Given the description of an element on the screen output the (x, y) to click on. 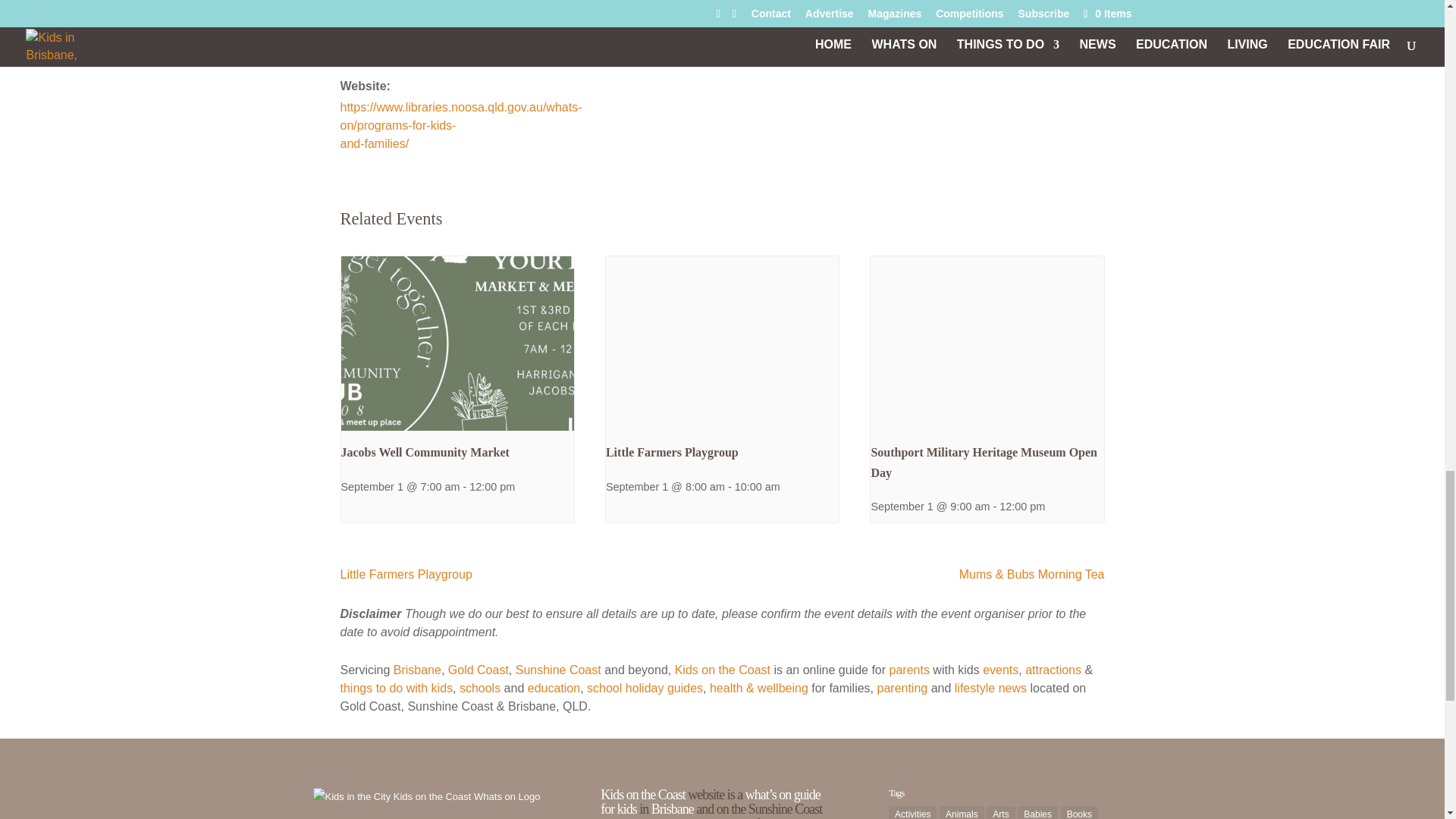
Family-friendly (378, 37)
Activities (363, 19)
Babies (413, 19)
